Given the description of an element on the screen output the (x, y) to click on. 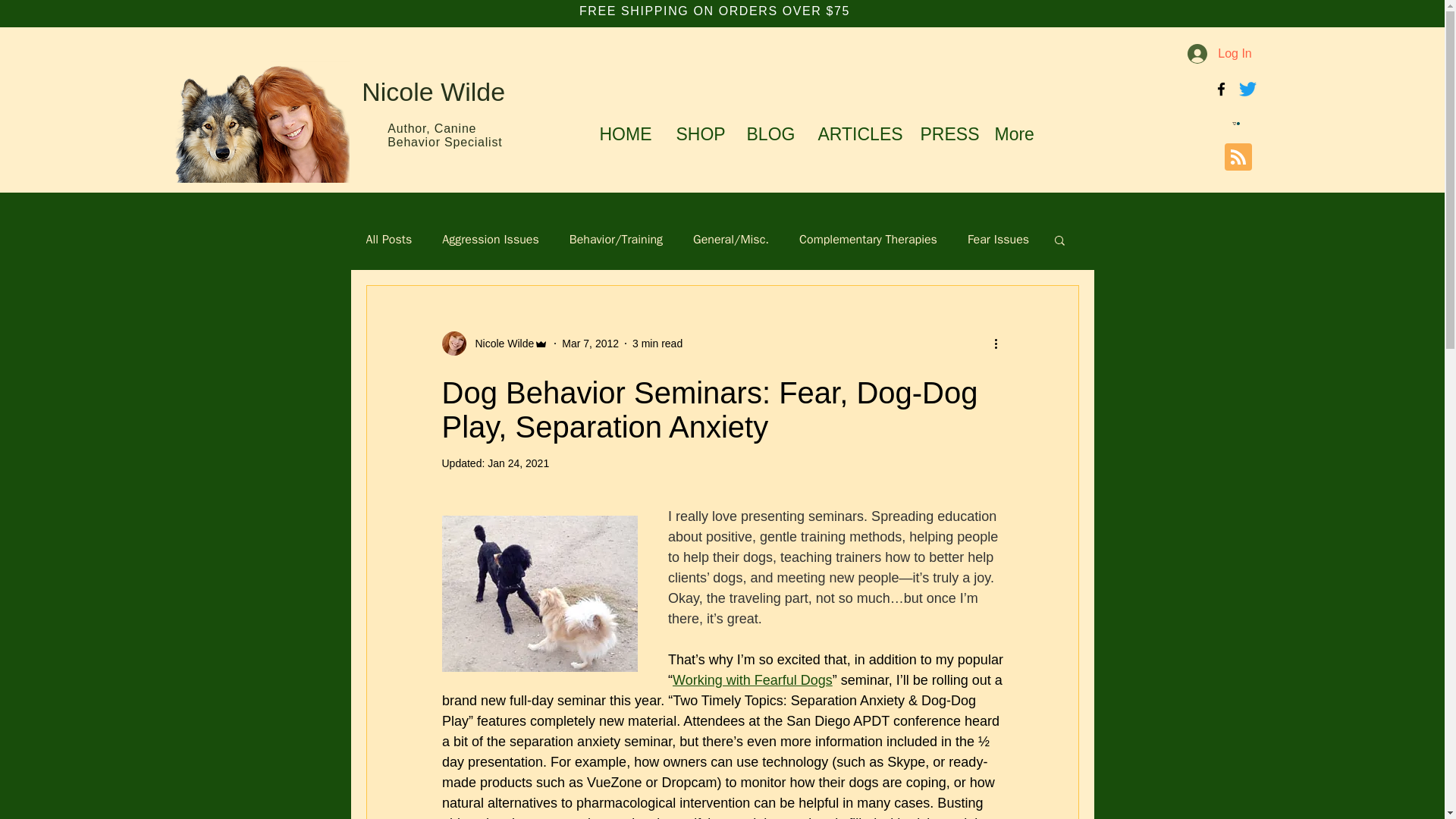
SHOP (699, 133)
Aggression Issues (490, 239)
3 min read (656, 343)
Canine (455, 128)
Nicole Wilde (499, 343)
BLOG (770, 133)
Author, (410, 128)
Behavior Specialist (444, 141)
Mar 7, 2012 (590, 343)
Fear Issues (998, 239)
